Given the description of an element on the screen output the (x, y) to click on. 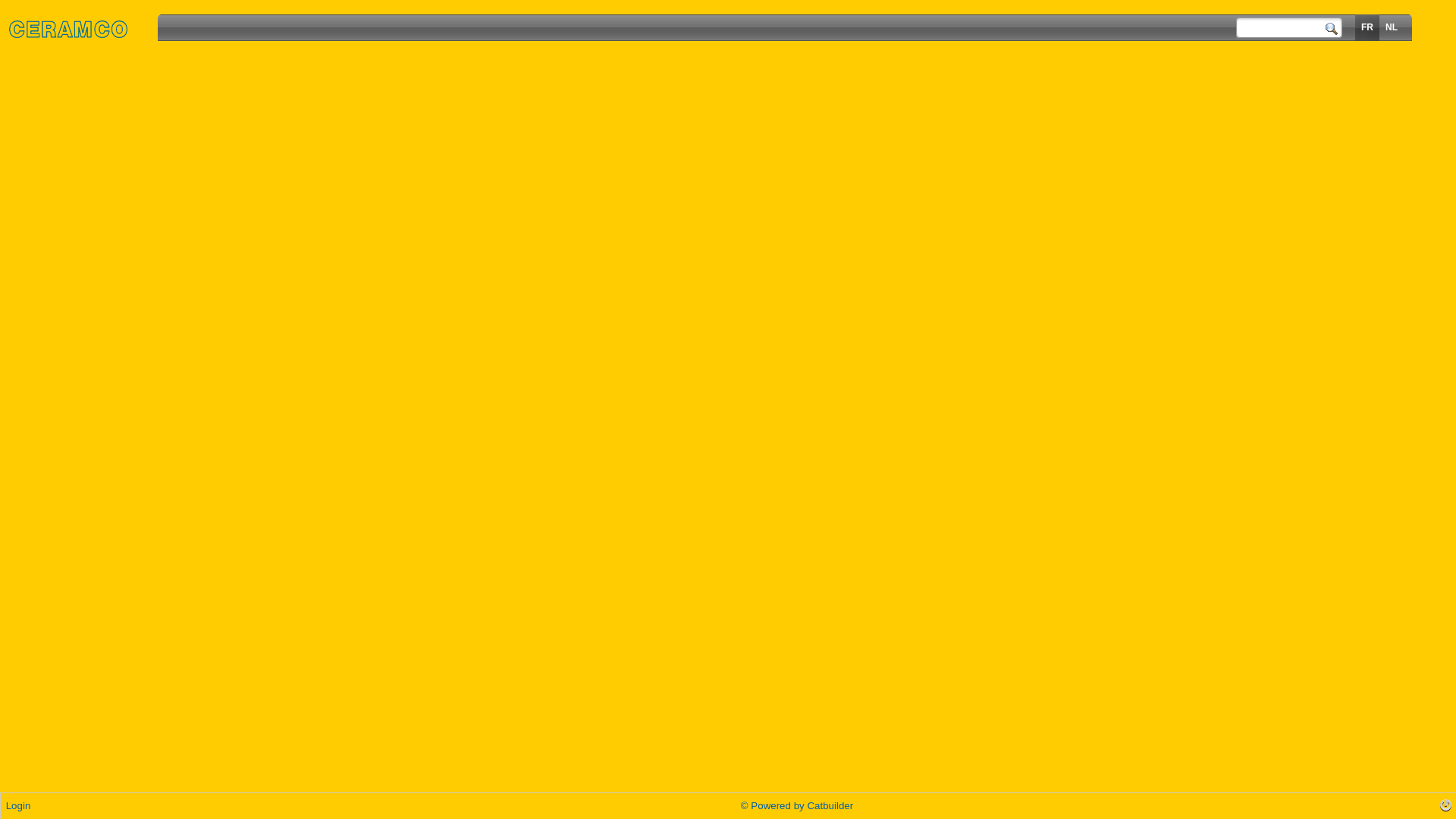
Ok Element type: text (703, 205)
Login Element type: text (18, 804)
Annuler Element type: text (741, 205)
